Given the description of an element on the screen output the (x, y) to click on. 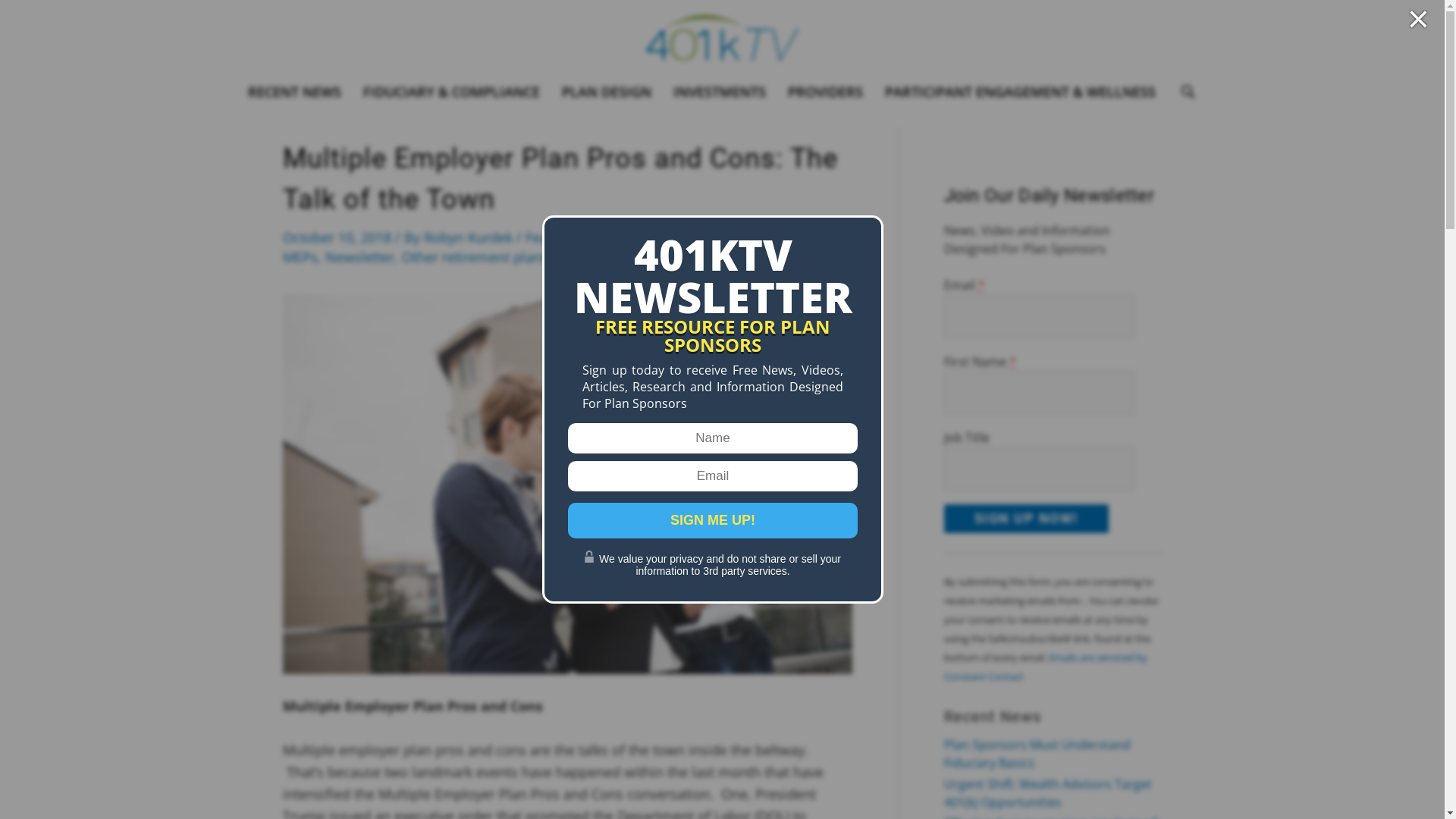
MEPs Element type: text (299, 256)
RECENT NEWS Element type: text (293, 91)
Fiduciary Element type: text (694, 237)
Latest Stories Element type: text (773, 237)
Plan design Element type: text (592, 256)
FIDUCIARY & COMPLIANCE Element type: text (450, 91)
PARTICIPANT ENGAGEMENT & WELLNESS Element type: text (1019, 91)
INVESTMENTS Element type: text (719, 91)
Plan Optimization Element type: text (694, 256)
Sign Up Now! Element type: text (1025, 518)
Emails are serviced by Constant Contact Element type: text (1044, 666)
Other retirement plans Element type: text (474, 256)
PLAN DESIGN Element type: text (605, 91)
Newsletter Element type: text (358, 256)
Plan Sponsors Must Understand Fiduciary Basics Element type: text (1036, 753)
Urgent Shift: Wealth Advisors Target 401(k) Opportunities Element type: text (1047, 792)
Featured Story - Fred Element type: text (590, 237)
PROVIDERS Element type: text (824, 91)
Robyn Kurdek Element type: text (469, 237)
